Given the description of an element on the screen output the (x, y) to click on. 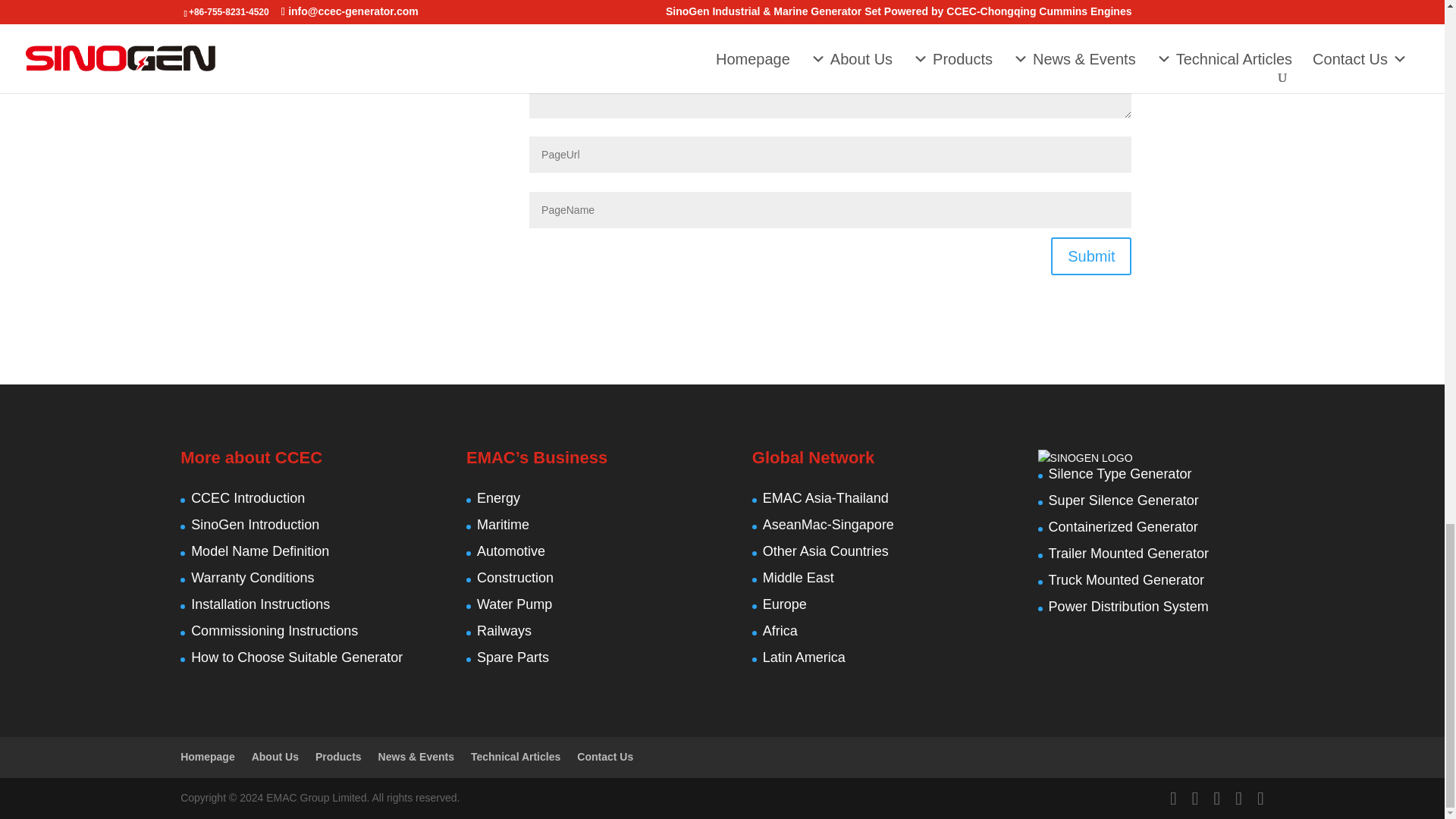
CCEC Introduction (247, 498)
